Given the description of an element on the screen output the (x, y) to click on. 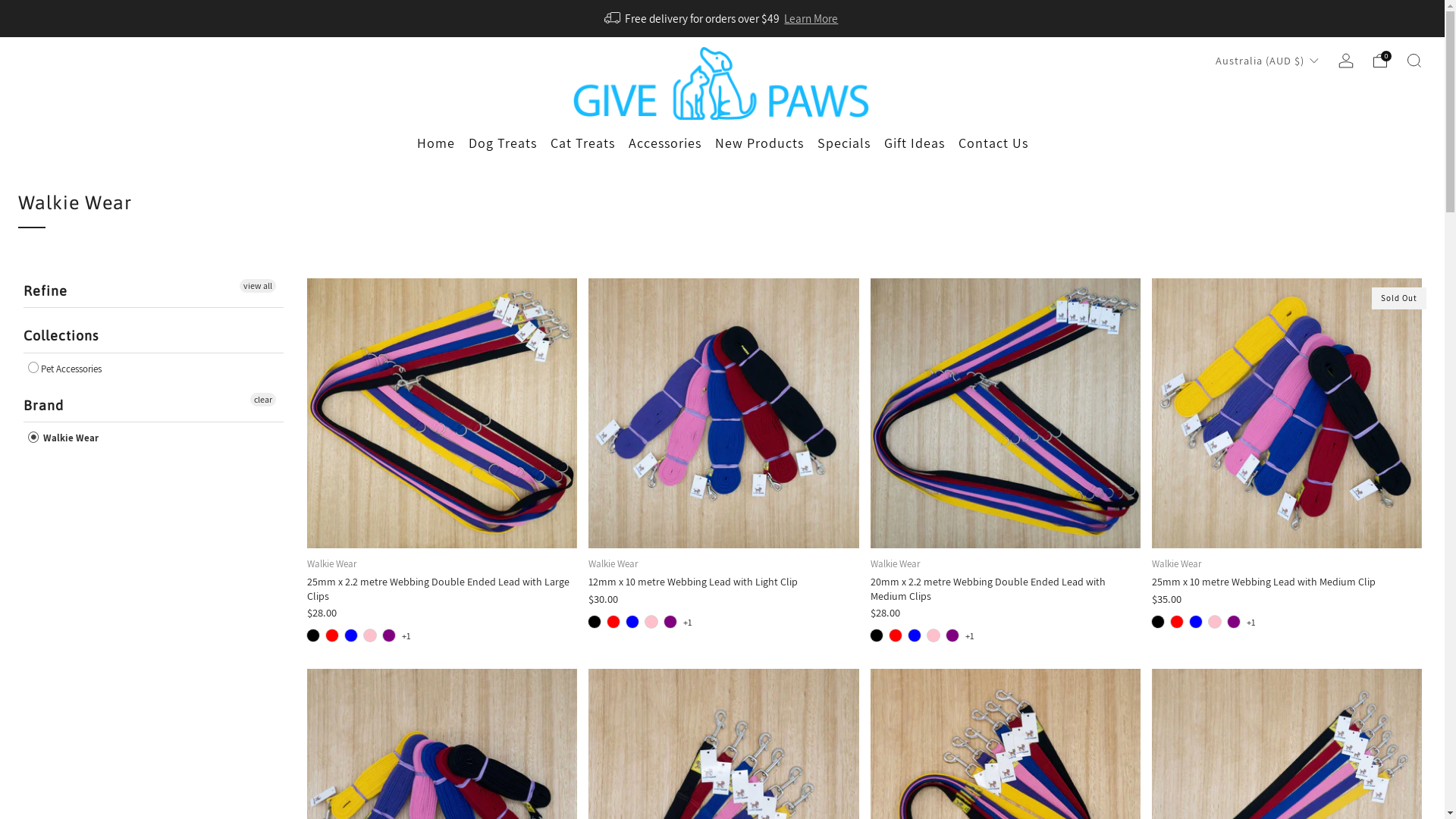
Learn More Element type: text (810, 17)
+1 Element type: text (968, 635)
Gift Ideas Element type: text (914, 143)
$35.00 Element type: text (1286, 599)
25mm x 10 metre Webbing Lead with Medium Clip Element type: hover (1286, 413)
clear Element type: text (263, 399)
0 Element type: text (1379, 60)
Contact Us Element type: text (993, 143)
$28.00 Element type: text (1005, 612)
20mm x 2.2 metre Webbing Double Ended Lead with Medium Clips Element type: hover (1005, 413)
12mm x 10 metre Webbing Lead with Light Clip Element type: hover (723, 413)
Home Element type: text (436, 143)
+1 Element type: text (687, 621)
Walkie Wear
12mm x 10 metre Webbing Lead with Light Clip Element type: text (723, 572)
+1 Element type: text (406, 635)
Accessories Element type: text (663, 143)
Pet Accessories Element type: text (64, 368)
Specials Element type: text (843, 143)
25mm x 2.2 metre Webbing Double Ended Lead with Large Clips Element type: hover (442, 413)
+1 Element type: text (1250, 621)
$30.00 Element type: text (723, 599)
$28.00 Element type: text (442, 612)
view all Element type: text (257, 285)
Dog Treats Element type: text (502, 143)
Walkie Wear
25mm x 10 metre Webbing Lead with Medium Clip Element type: text (1286, 572)
Walkie Wear Element type: text (63, 437)
Cat Treats Element type: text (582, 143)
New Products Element type: text (758, 143)
